Given the description of an element on the screen output the (x, y) to click on. 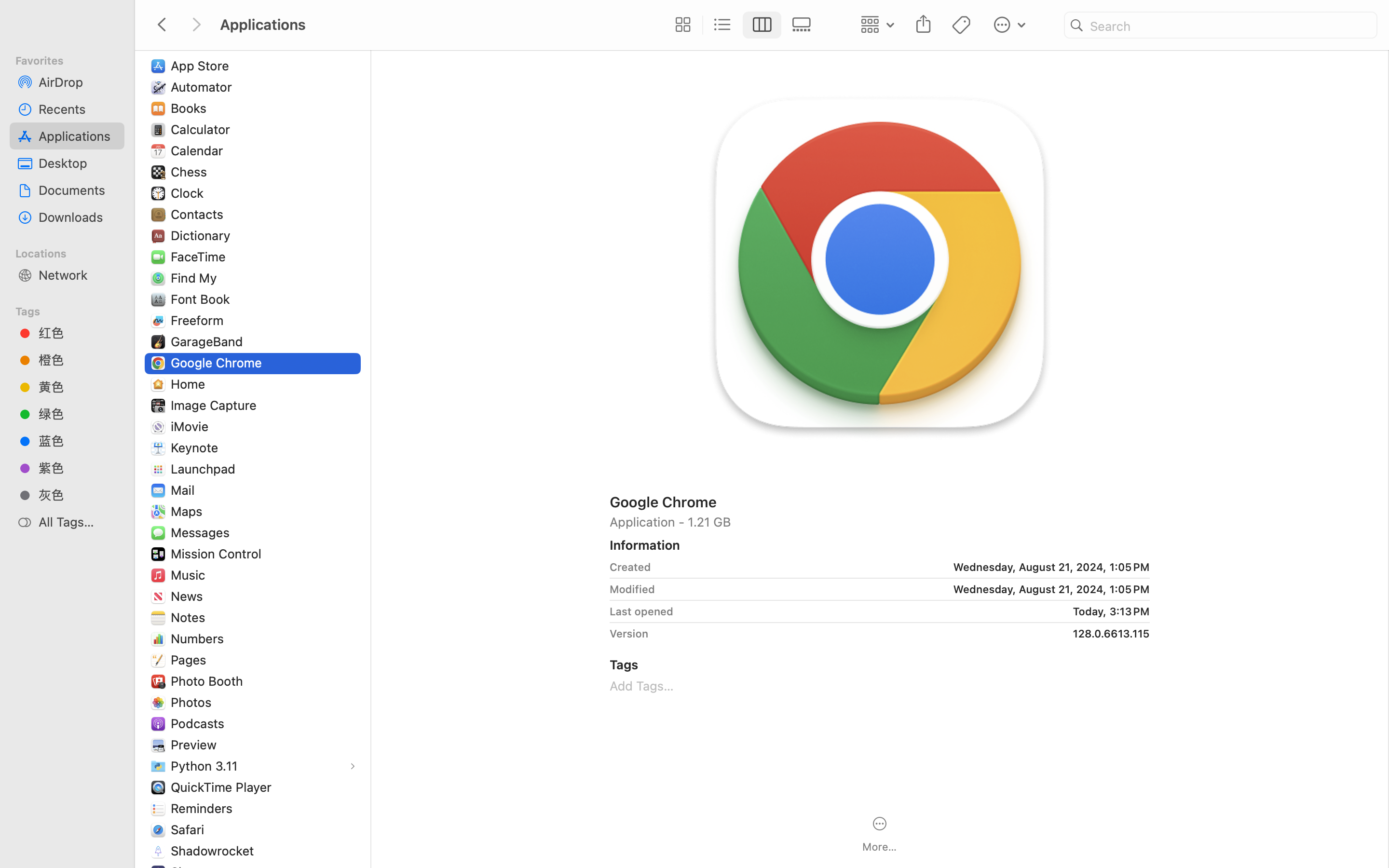
Reminders Element type: AXTextField (203, 807)
Podcasts Element type: AXTextField (199, 723)
Preview Element type: AXTextField (195, 744)
Downloads Element type: AXStaticText (77, 216)
Modified Element type: AXStaticText (631, 589)
